Given the description of an element on the screen output the (x, y) to click on. 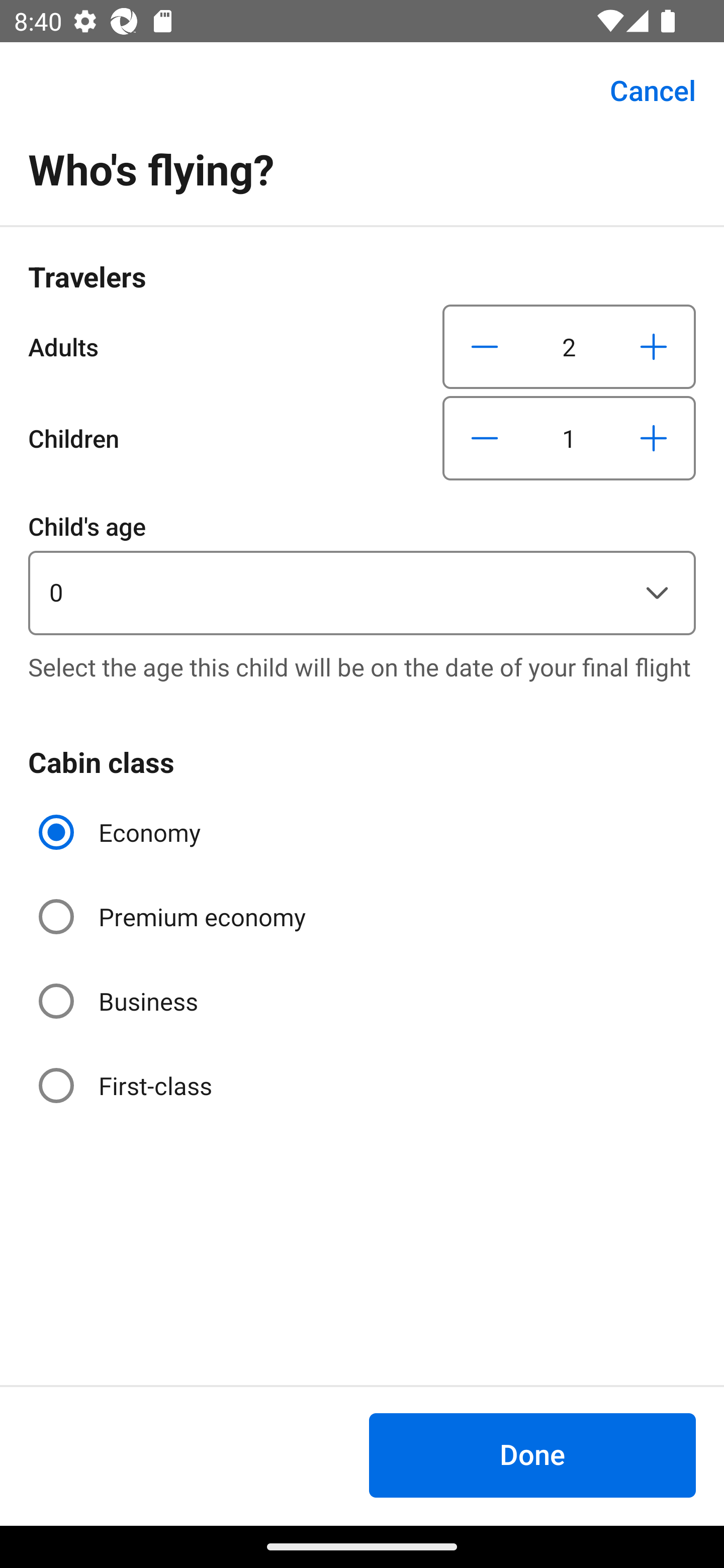
Cancel (641, 90)
Decrease (484, 346)
Increase (653, 346)
Decrease (484, 437)
Increase (653, 437)
Child's age
 Child's age 0 (361, 571)
Economy (121, 832)
Premium economy (174, 916)
Business (120, 1000)
First-class (126, 1084)
Done (532, 1454)
